Given the description of an element on the screen output the (x, y) to click on. 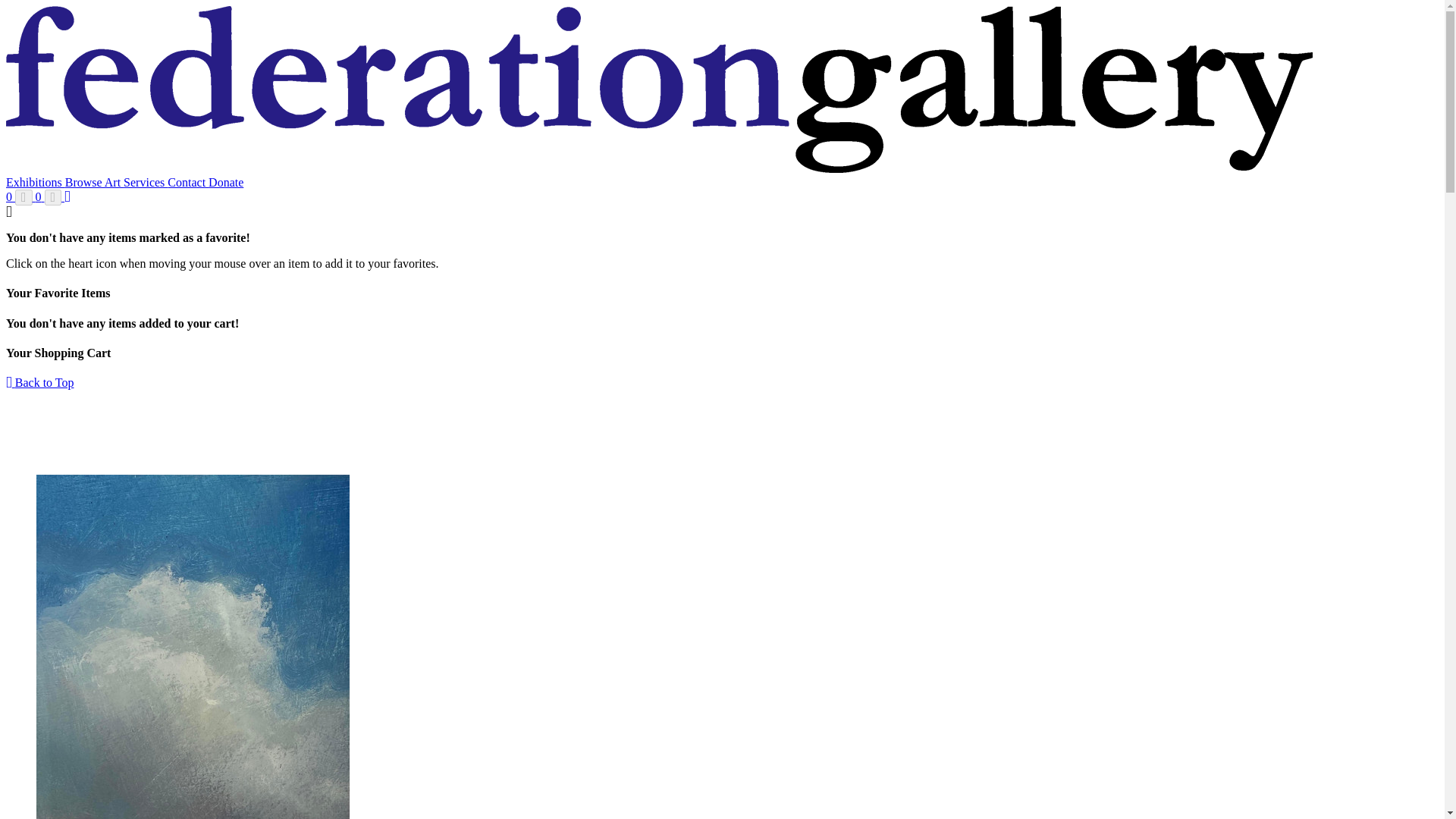
Services (145, 182)
Contact (187, 182)
Back to Top (39, 382)
Rising Up (192, 647)
0 (19, 196)
0 (49, 196)
Exhibitions (35, 182)
Browse Art (94, 182)
Donate (225, 182)
